Given the description of an element on the screen output the (x, y) to click on. 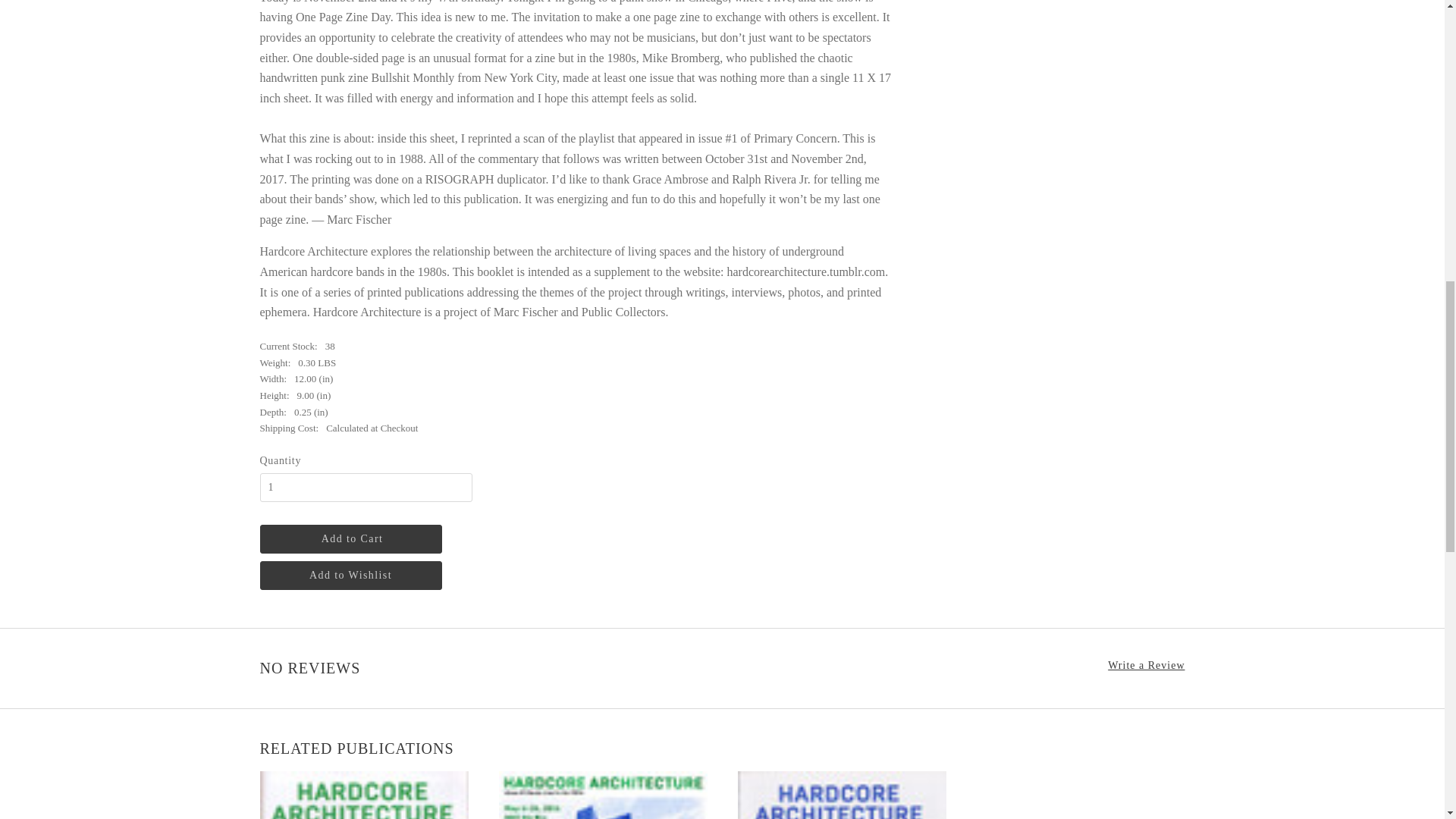
1 (365, 487)
Add to Wishlist (350, 575)
Hardcore Architecture NY Poster Set (603, 795)
Hardcore Architecture: Justin Blinder (840, 795)
Hardcore Architecture (363, 795)
Add to Cart (350, 538)
Write a Review (1146, 665)
